Given the description of an element on the screen output the (x, y) to click on. 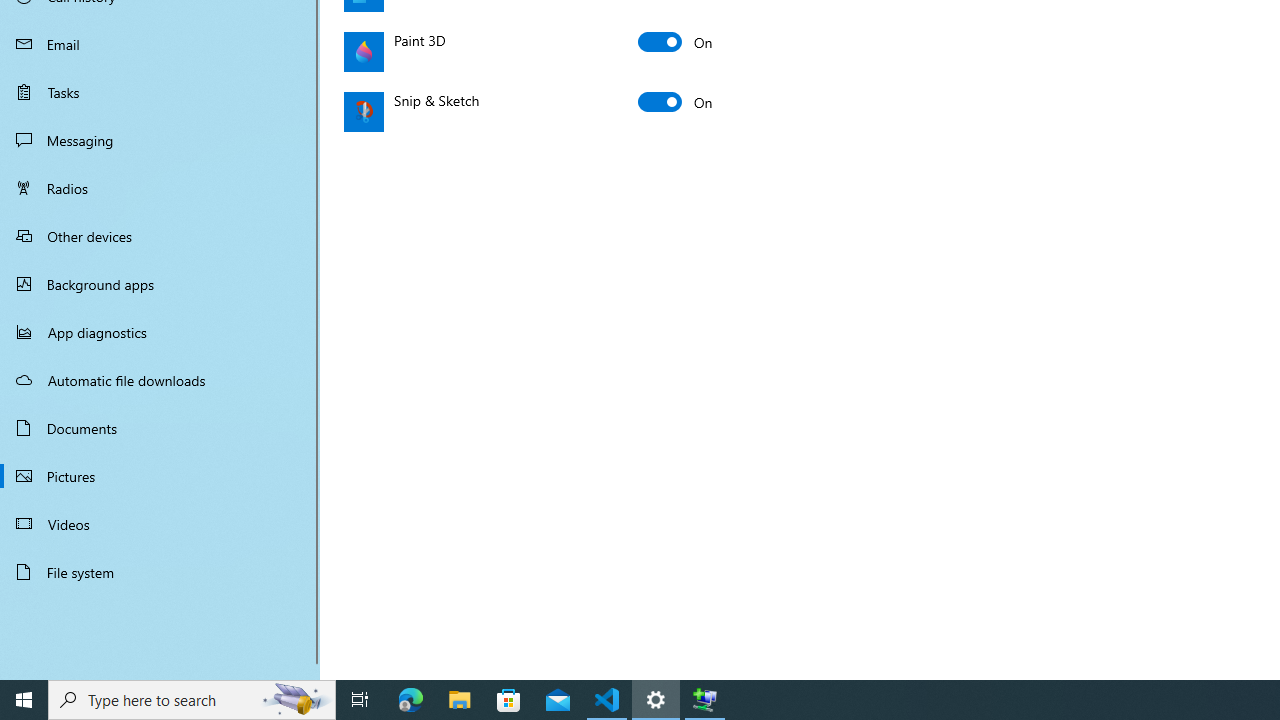
App diagnostics (160, 331)
Documents (160, 427)
Automatic file downloads (160, 379)
Background apps (160, 283)
File system (160, 571)
Email (160, 43)
Paint 3D (675, 41)
Messaging (160, 139)
Extensible Wizards Host Process - 1 running window (704, 699)
Snip & Sketch (675, 101)
